Given the description of an element on the screen output the (x, y) to click on. 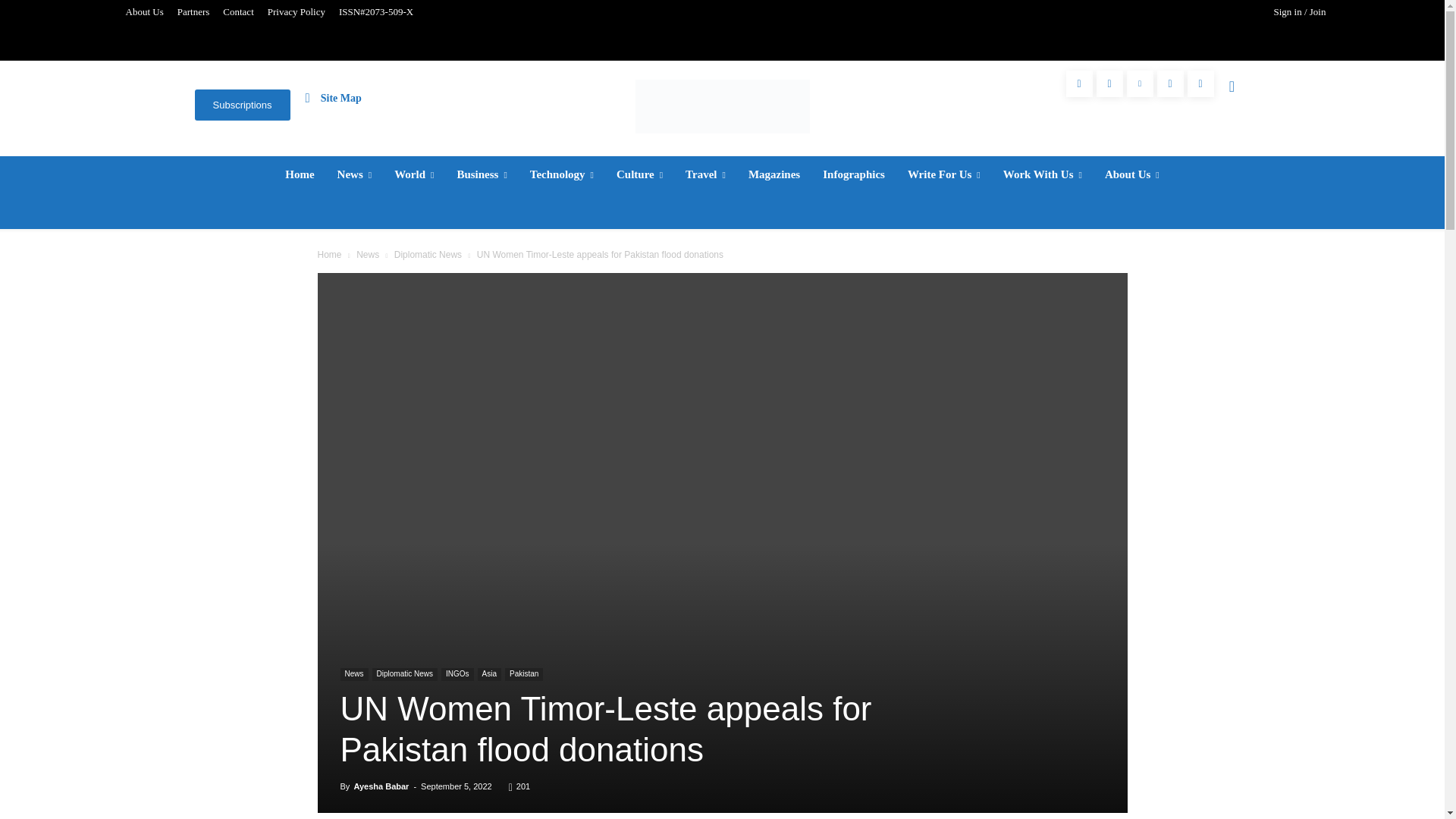
Instagram (1109, 82)
View all posts in Diplomatic News (427, 254)
Facebook (1079, 82)
Youtube (1201, 82)
Subscriptions (241, 104)
Site Map (333, 97)
Linkedin (1139, 82)
View all posts in News (367, 254)
Twitter (1170, 82)
